Given the description of an element on the screen output the (x, y) to click on. 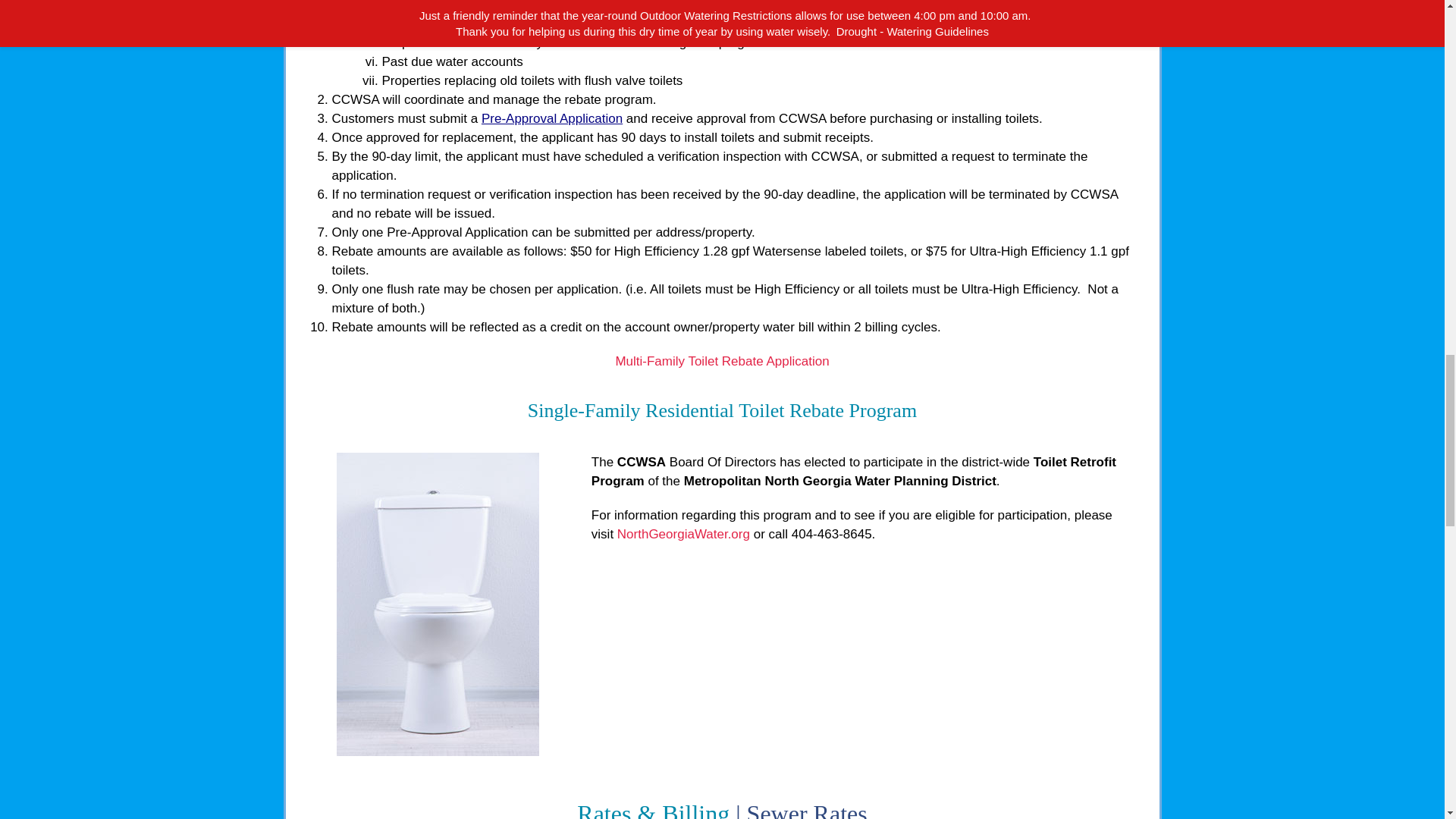
NorthGeorgiaWater.org (683, 534)
toilet (437, 603)
Pre-Approval Application (552, 118)
Multi-Family Toilet Rebate Application (721, 360)
